Given the description of an element on the screen output the (x, y) to click on. 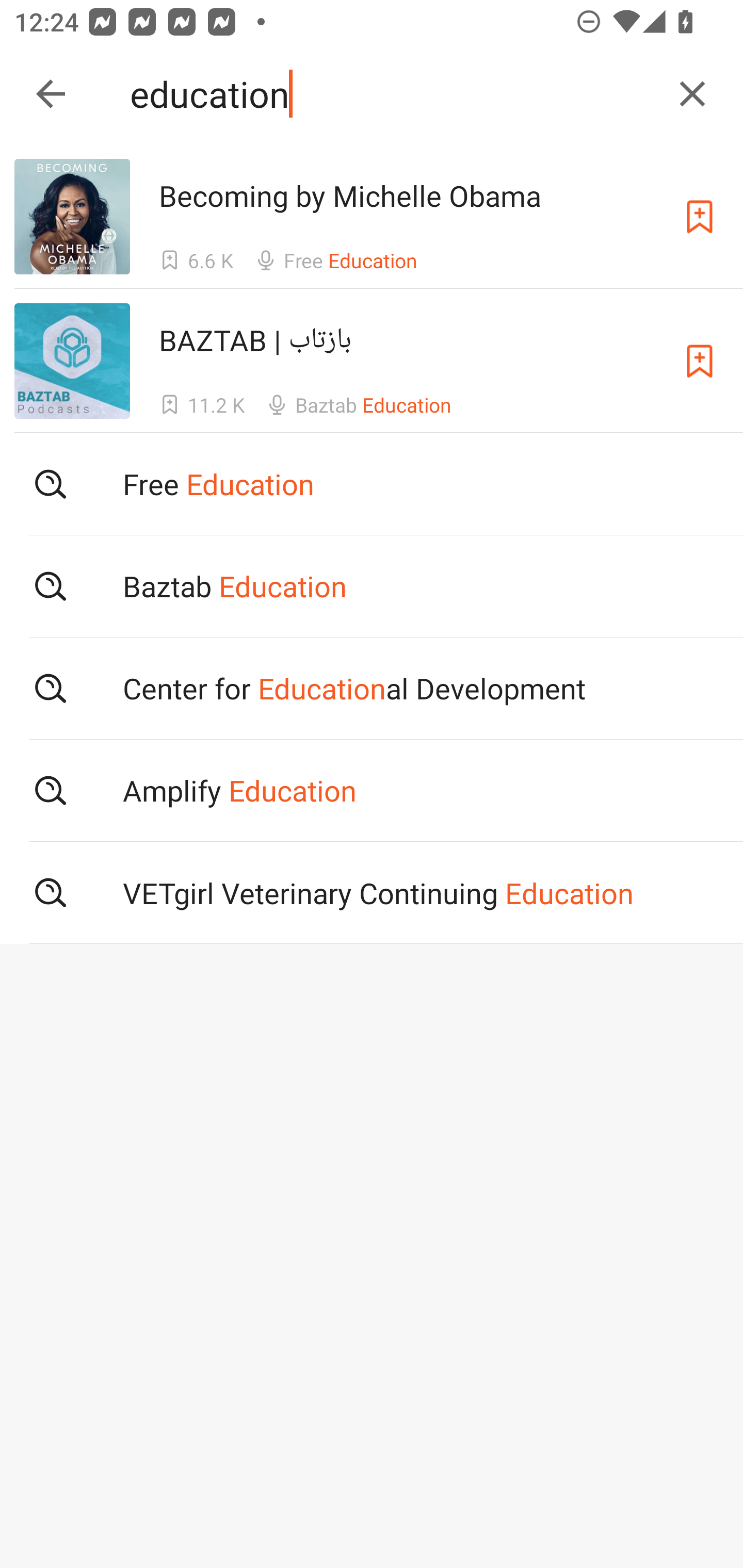
Collapse (50, 93)
Clear query (692, 93)
education (393, 94)
Subscribe (699, 216)
Subscribe (699, 360)
 Free Education (371, 483)
 Baztab Education (371, 585)
 Center for Educational Development (371, 688)
 Amplify Education (371, 791)
 VETgirl Veterinary Continuing Education Podcasts (371, 892)
